Given the description of an element on the screen output the (x, y) to click on. 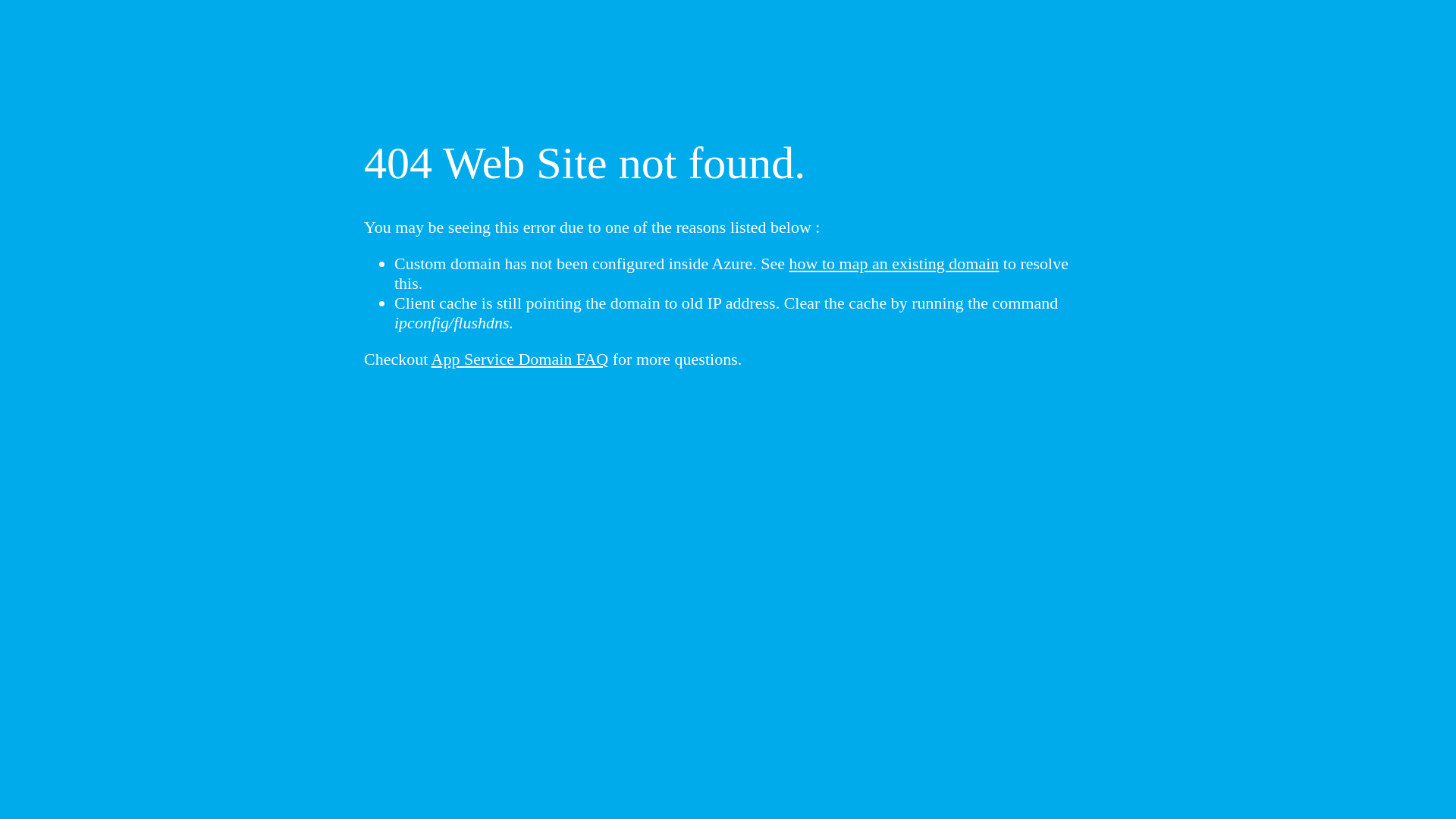
how to map an existing domain Element type: text (894, 263)
App Service Domain FAQ Element type: text (519, 358)
